Given the description of an element on the screen output the (x, y) to click on. 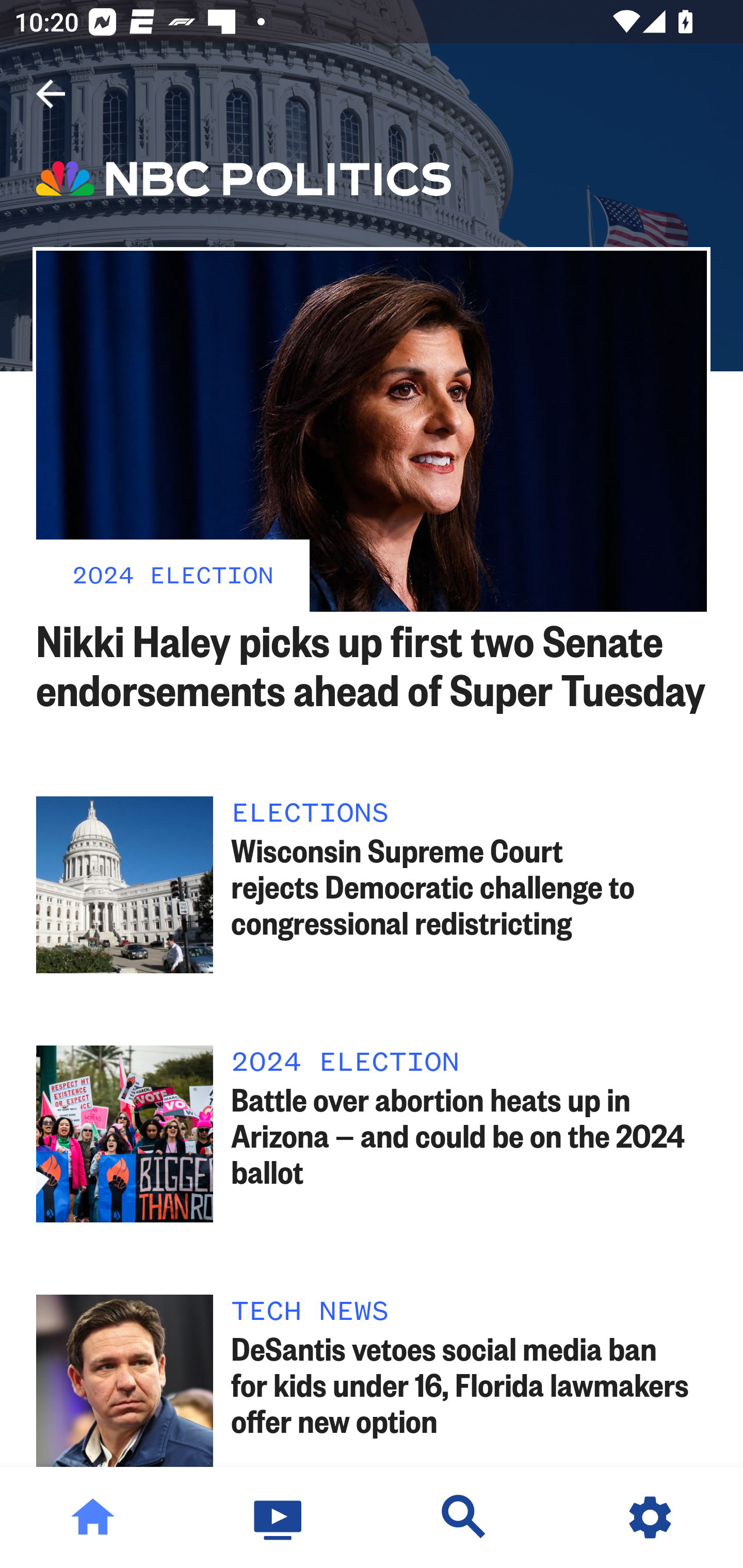
Navigate up (50, 93)
Watch (278, 1517)
Discover (464, 1517)
Settings (650, 1517)
